Given the description of an element on the screen output the (x, y) to click on. 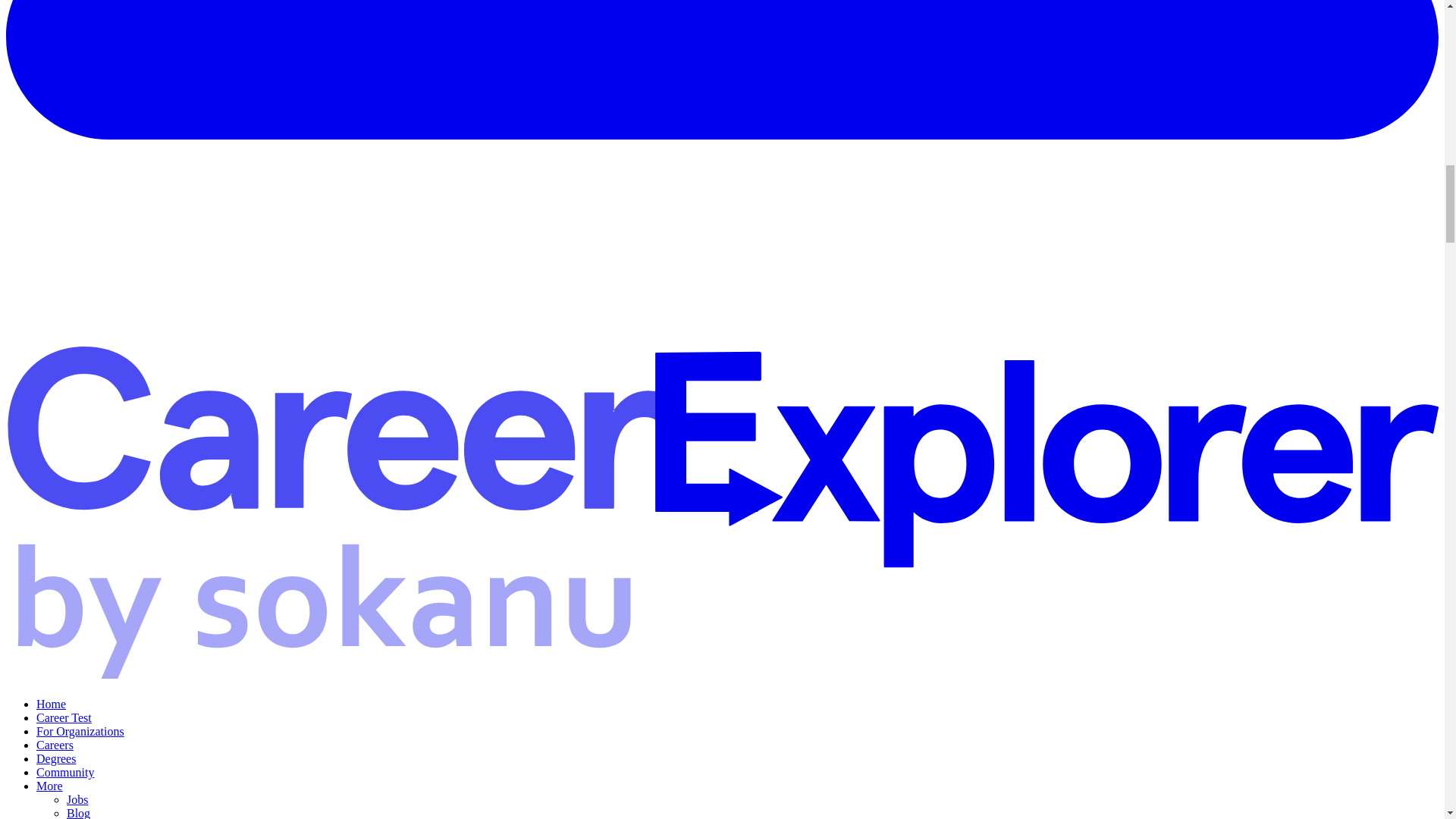
Degrees (55, 758)
Community (65, 771)
Blog (78, 812)
Home (50, 703)
Jobs (76, 799)
For Organizations (79, 730)
Career Test (63, 717)
Careers (55, 744)
More (49, 785)
